Given the description of an element on the screen output the (x, y) to click on. 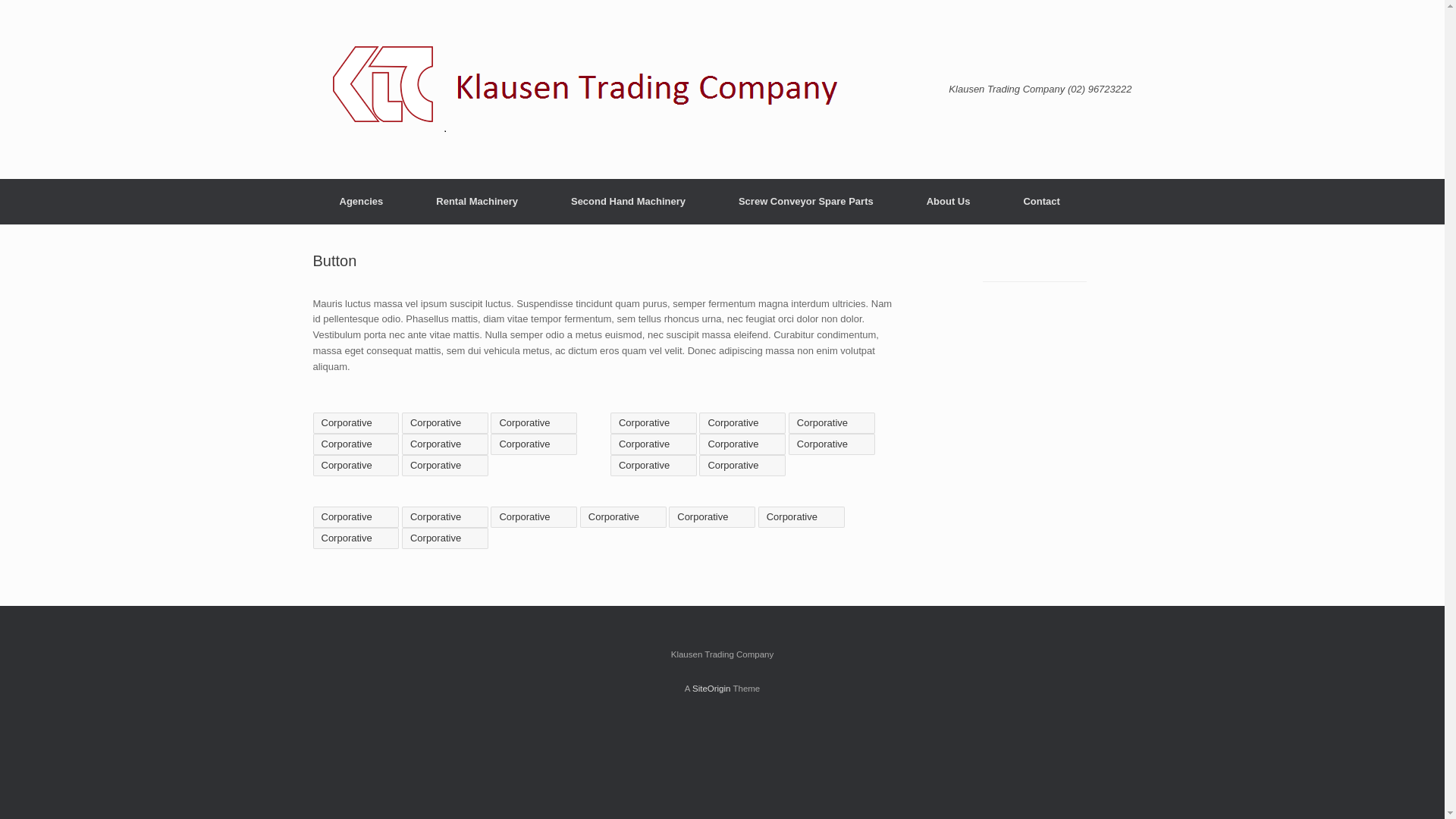
SiteOrigin Element type: text (711, 688)
Corporative Element type: text (742, 464)
Corporative Element type: text (355, 422)
Agencies Element type: text (360, 201)
Second Hand Machinery Element type: text (628, 201)
About Us Element type: text (948, 201)
Corporative Element type: text (355, 464)
Corporative Element type: text (653, 464)
Corporative Element type: text (831, 443)
Corporative Element type: text (533, 422)
Corporative Element type: text (444, 422)
Corporative Element type: text (533, 443)
Rental Machinery Element type: text (476, 201)
Corporative Element type: text (742, 443)
Corporative Element type: text (355, 537)
Corporative Element type: text (444, 516)
Contact Element type: text (1040, 201)
Corporative Element type: text (711, 516)
Corporative Element type: text (355, 516)
Corporative Element type: text (801, 516)
Corporative Element type: text (444, 464)
Screw Conveyor Spare Parts Element type: text (806, 201)
Corporative Element type: text (623, 516)
Corporative Element type: text (653, 422)
Corporative Element type: text (533, 516)
Corporative Element type: text (444, 537)
Corporative Element type: text (831, 422)
Corporative Element type: text (653, 443)
Corporative Element type: text (355, 443)
Klausen Trading Company Element type: hover (594, 89)
Corporative Element type: text (742, 422)
Corporative Element type: text (444, 443)
